Given the description of an element on the screen output the (x, y) to click on. 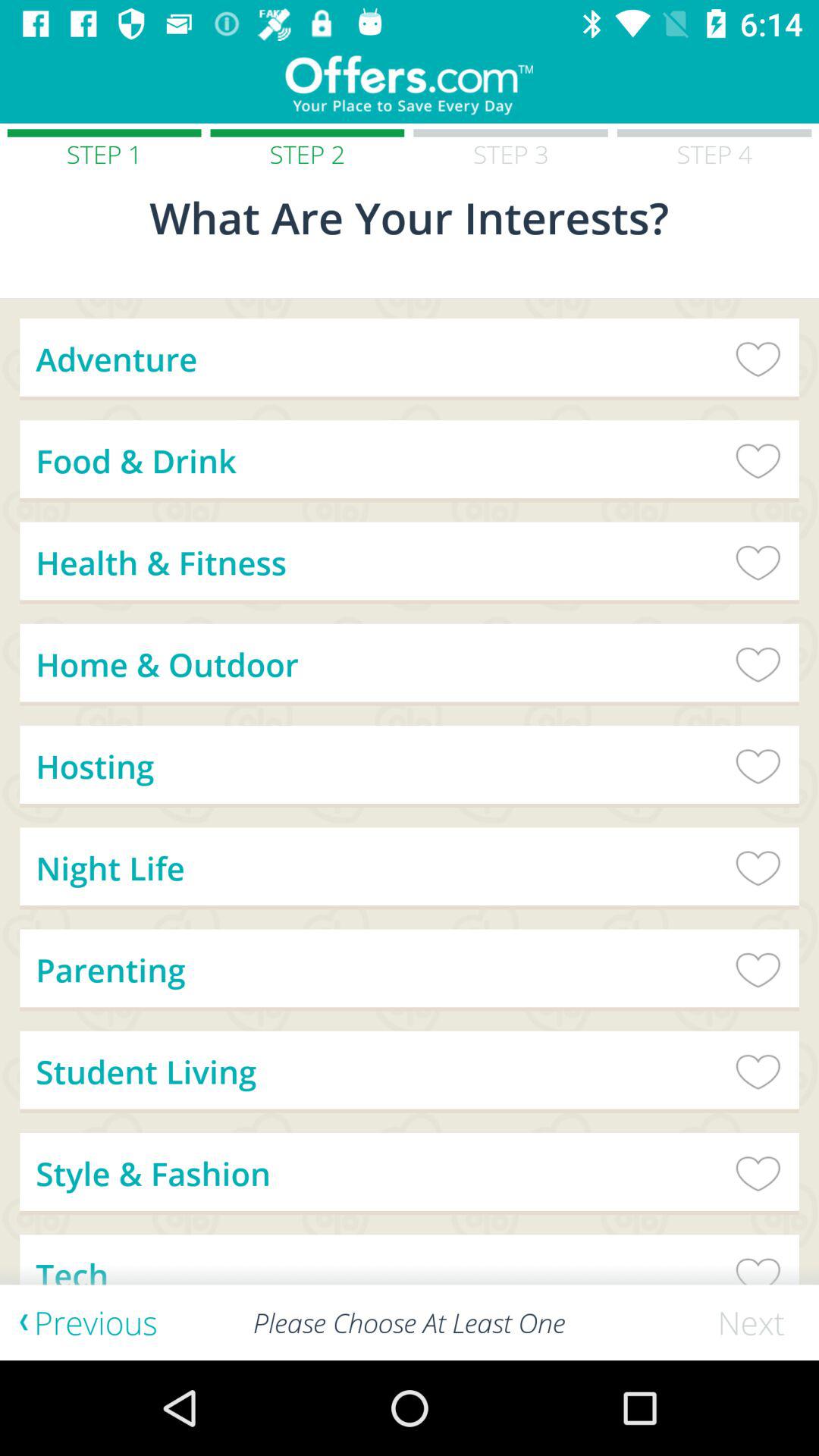
scroll until next icon (758, 1322)
